Given the description of an element on the screen output the (x, y) to click on. 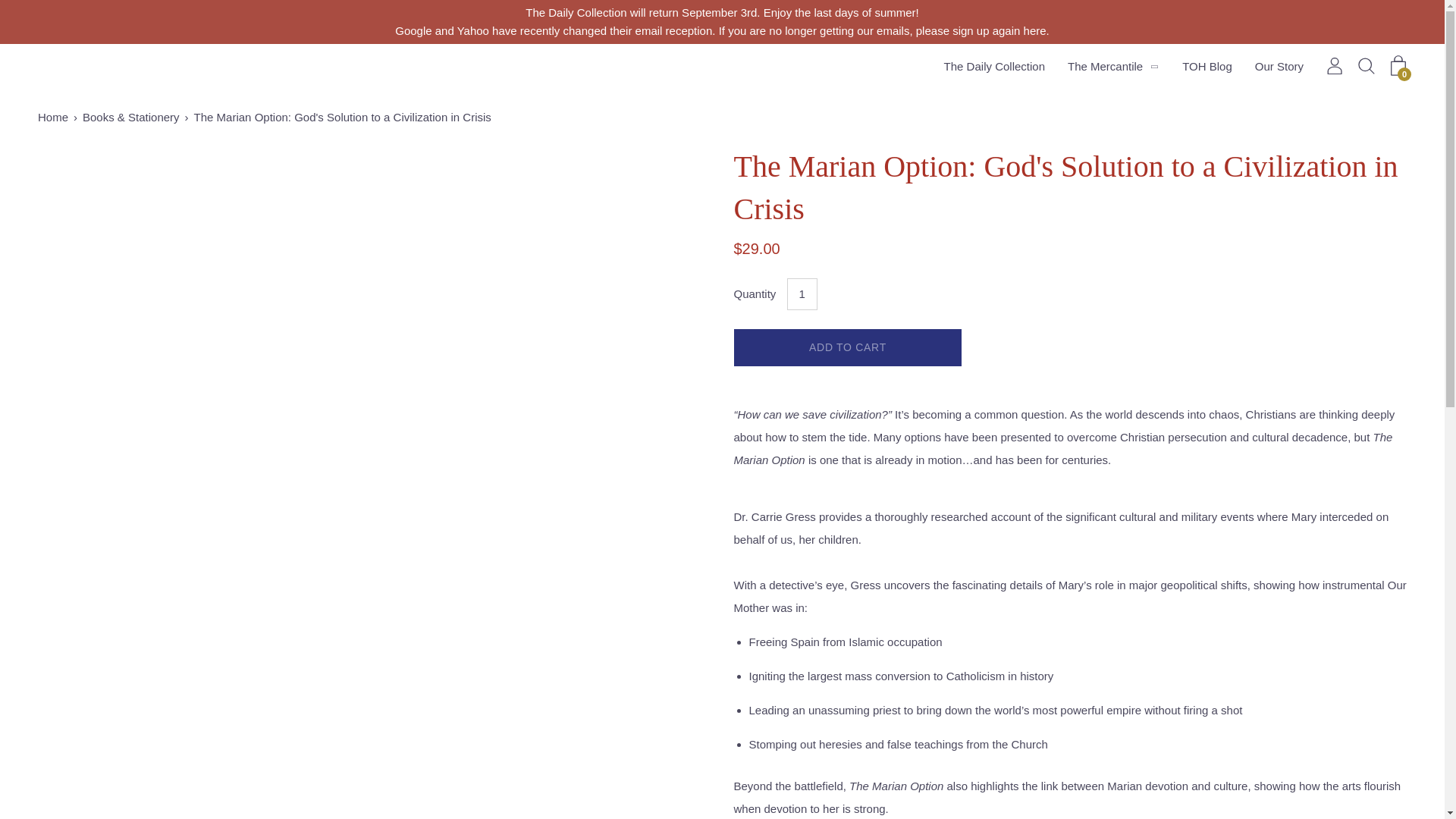
Our Story (1279, 66)
0 (1398, 65)
The Daily Collection (994, 66)
Go back to Home page (55, 117)
TOH Blog (1206, 66)
The Mercantile (1104, 66)
1 (801, 294)
